Given the description of an element on the screen output the (x, y) to click on. 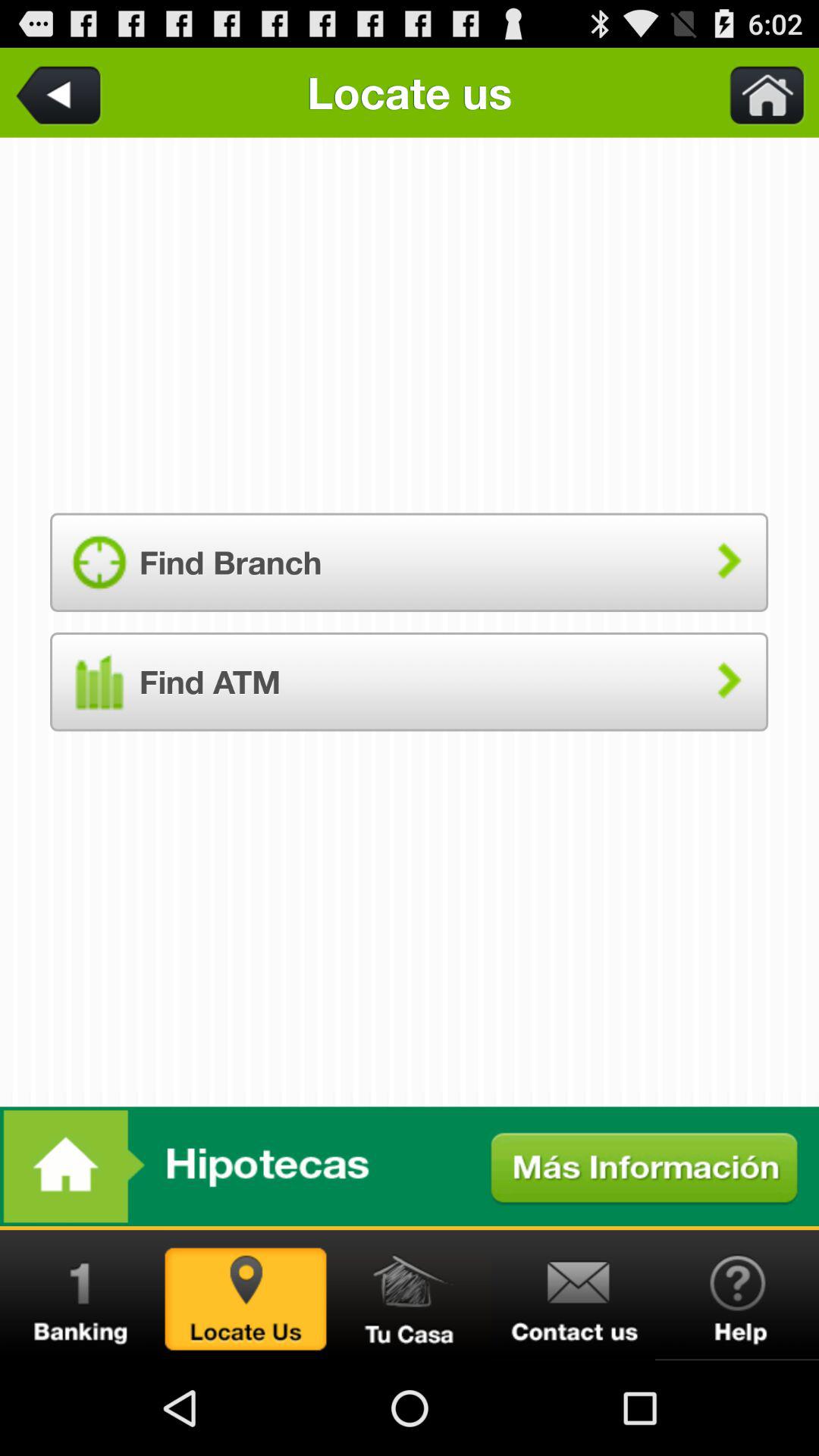
go to home screen (757, 92)
